Given the description of an element on the screen output the (x, y) to click on. 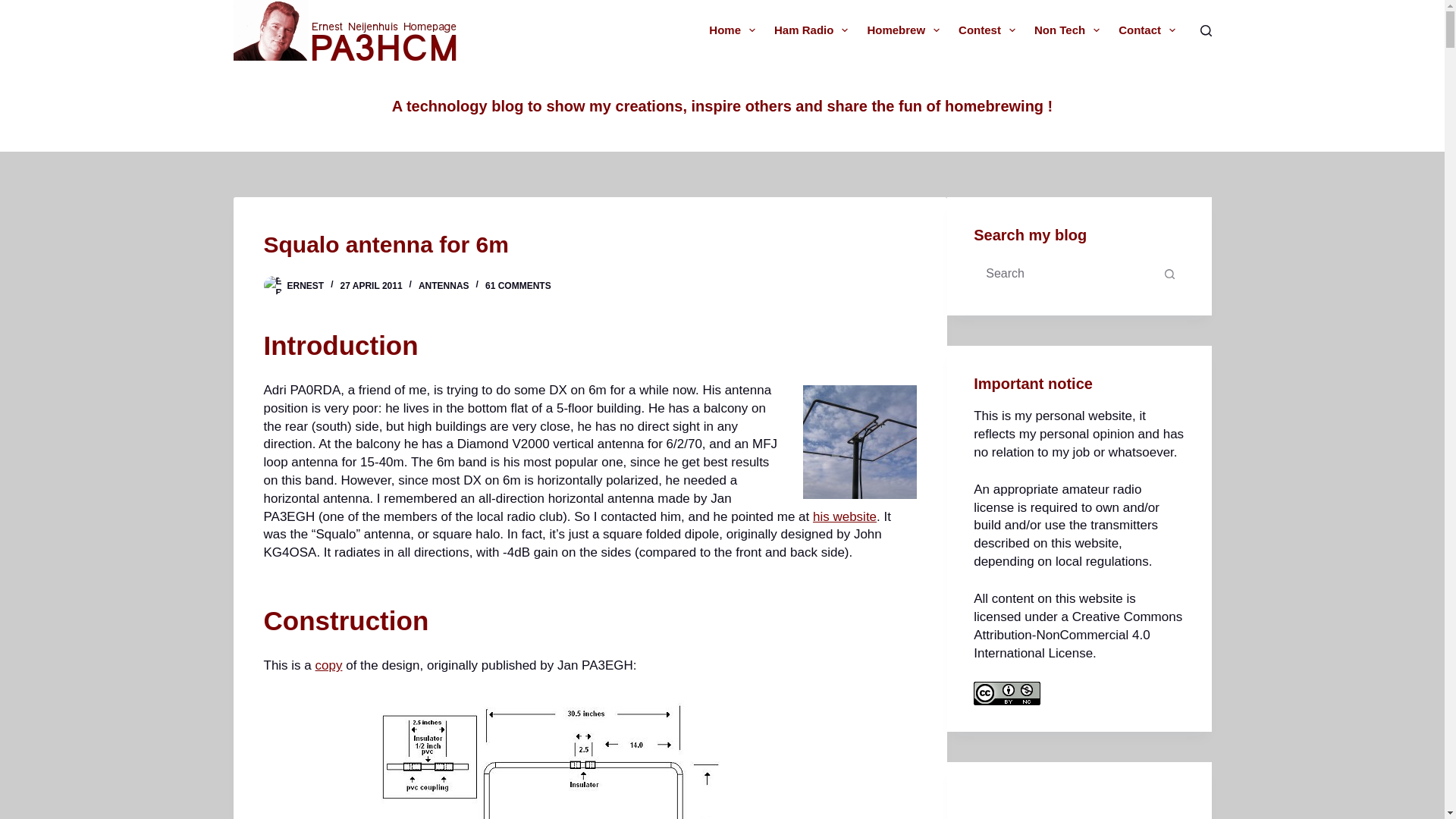
Posts by Ernest (304, 285)
Advertisement (1087, 803)
Ham Radio (811, 30)
Search for... (1064, 273)
Skip to content (15, 7)
Squalo antenna for 6m (590, 244)
Home (732, 30)
Homebrew (903, 30)
